Given the description of an element on the screen output the (x, y) to click on. 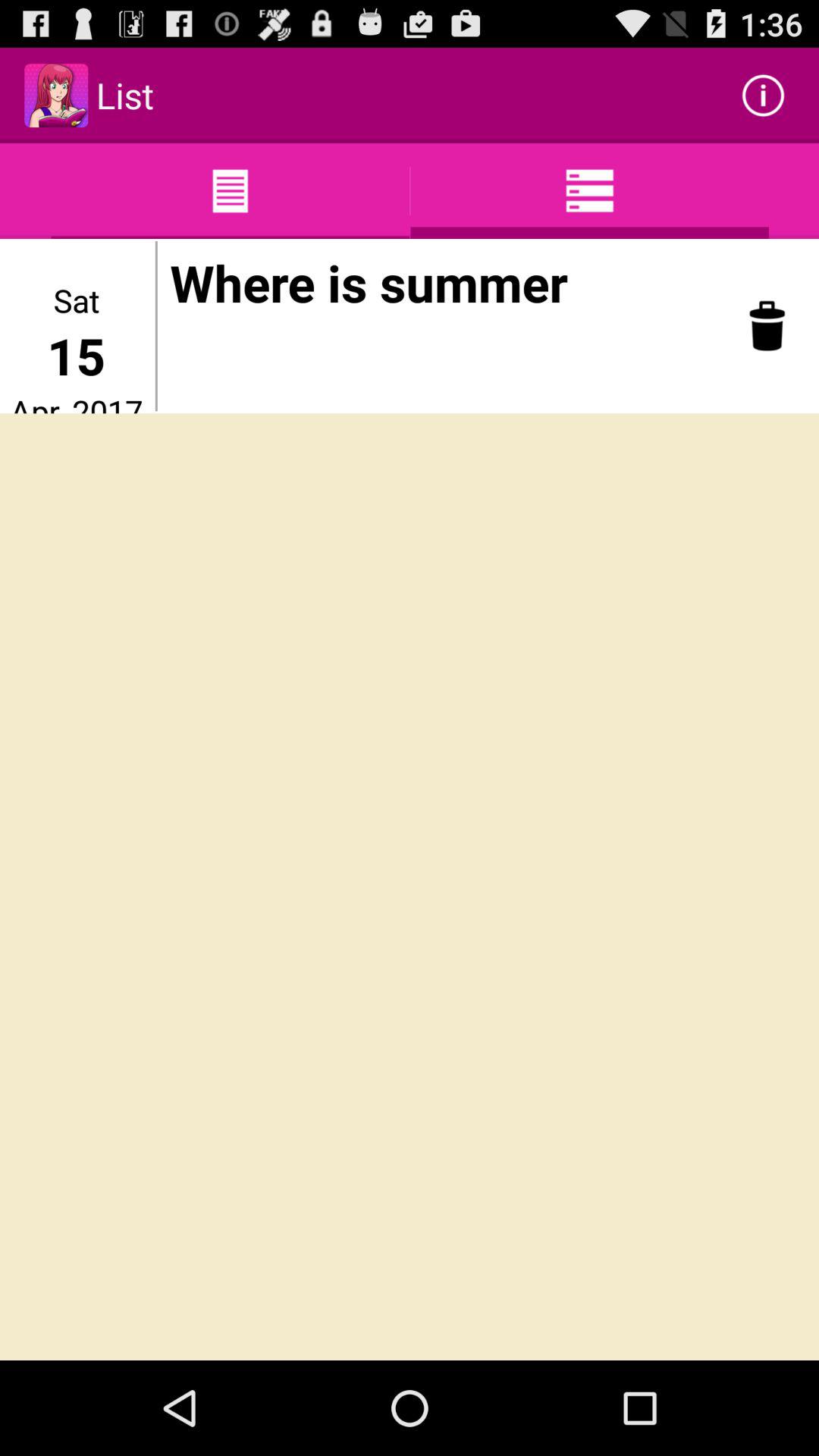
tap item below the sat app (76, 355)
